Given the description of an element on the screen output the (x, y) to click on. 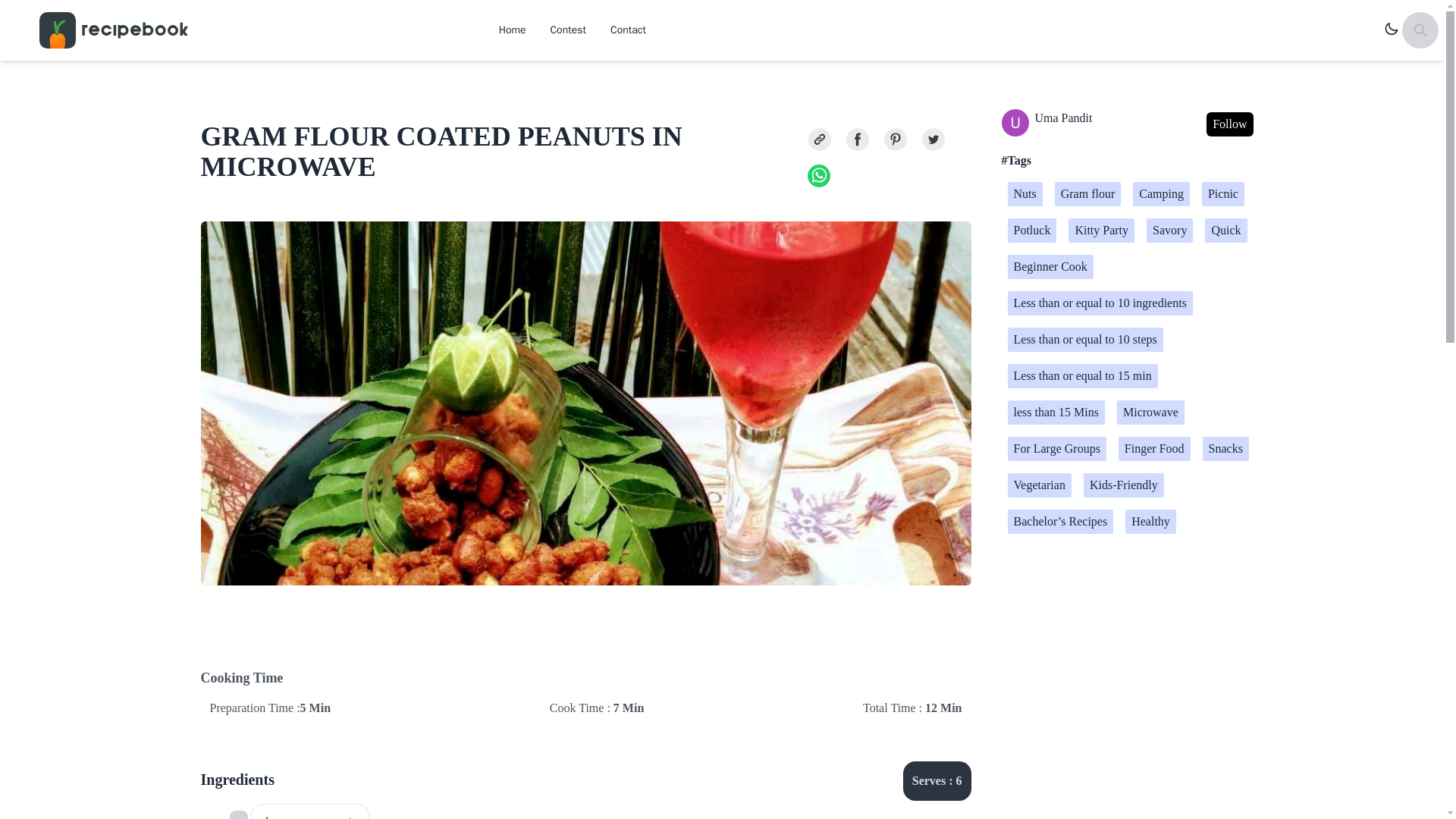
Camping (1160, 193)
Contact (628, 30)
Savory (1169, 230)
For Large Groups (1056, 448)
Home (512, 30)
Kitty Party (1101, 230)
Vegetarian (1038, 485)
Less than or equal to 15 min (1082, 375)
Healthy (1150, 521)
Picnic (1223, 193)
Gram flour (1087, 193)
Finger Food (1154, 448)
less than 15 Mins (1055, 412)
Kids-Friendly (1123, 485)
synthwave (1393, 30)
